Given the description of an element on the screen output the (x, y) to click on. 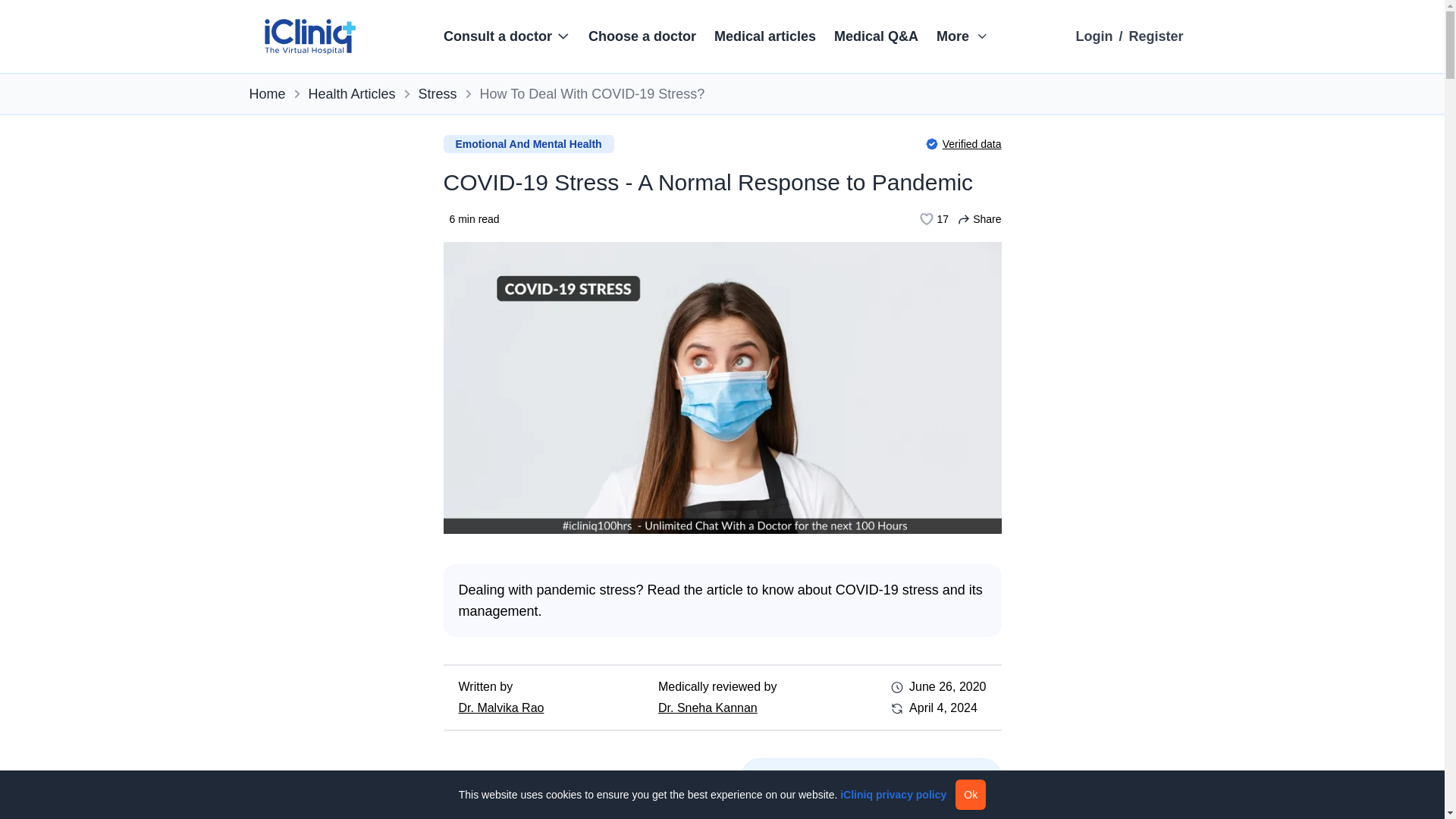
Choose a doctor (641, 36)
Medical articles (764, 36)
Register (1155, 36)
Login (1093, 36)
